Given the description of an element on the screen output the (x, y) to click on. 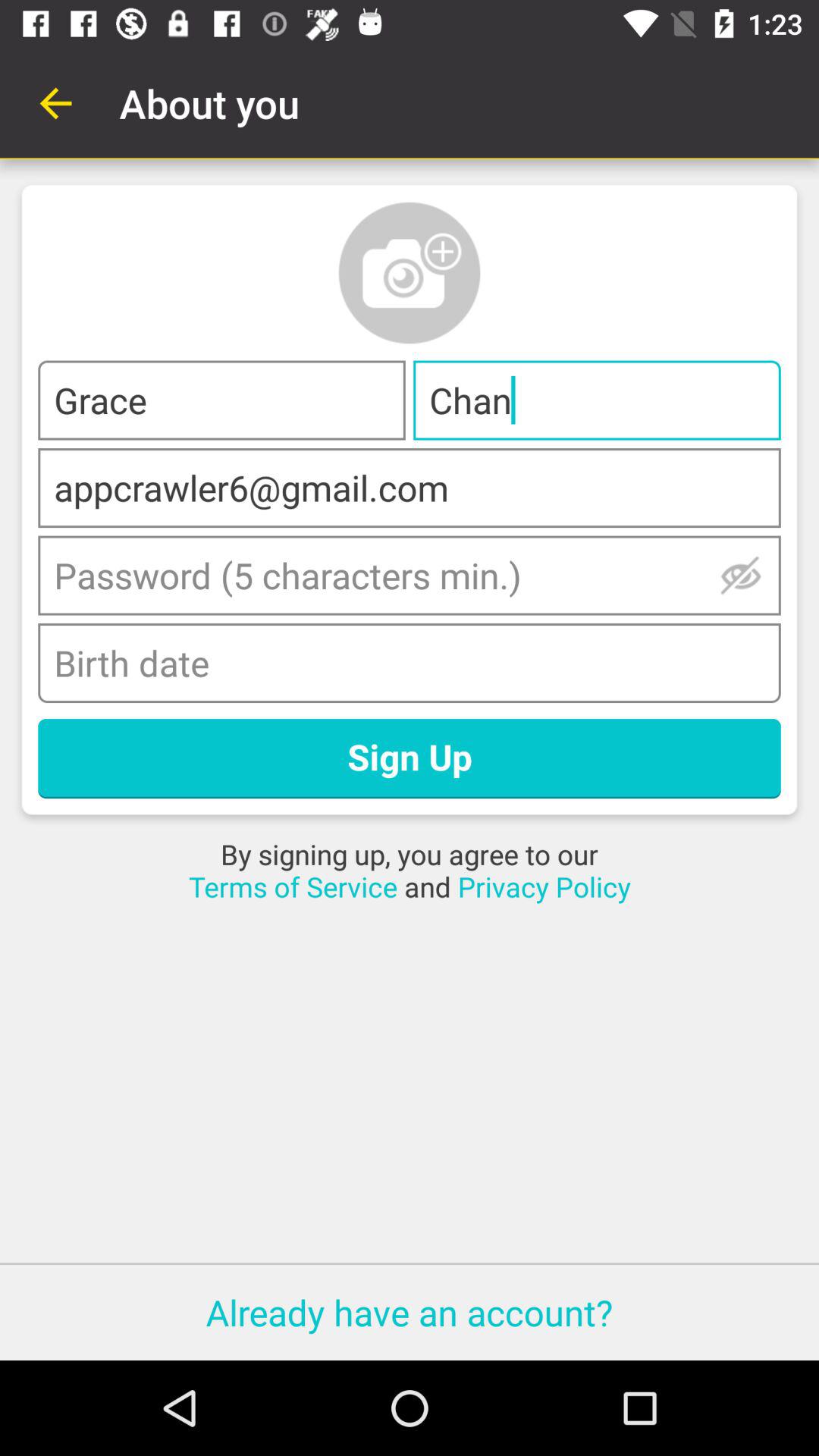
insert date of birth (409, 662)
